Given the description of an element on the screen output the (x, y) to click on. 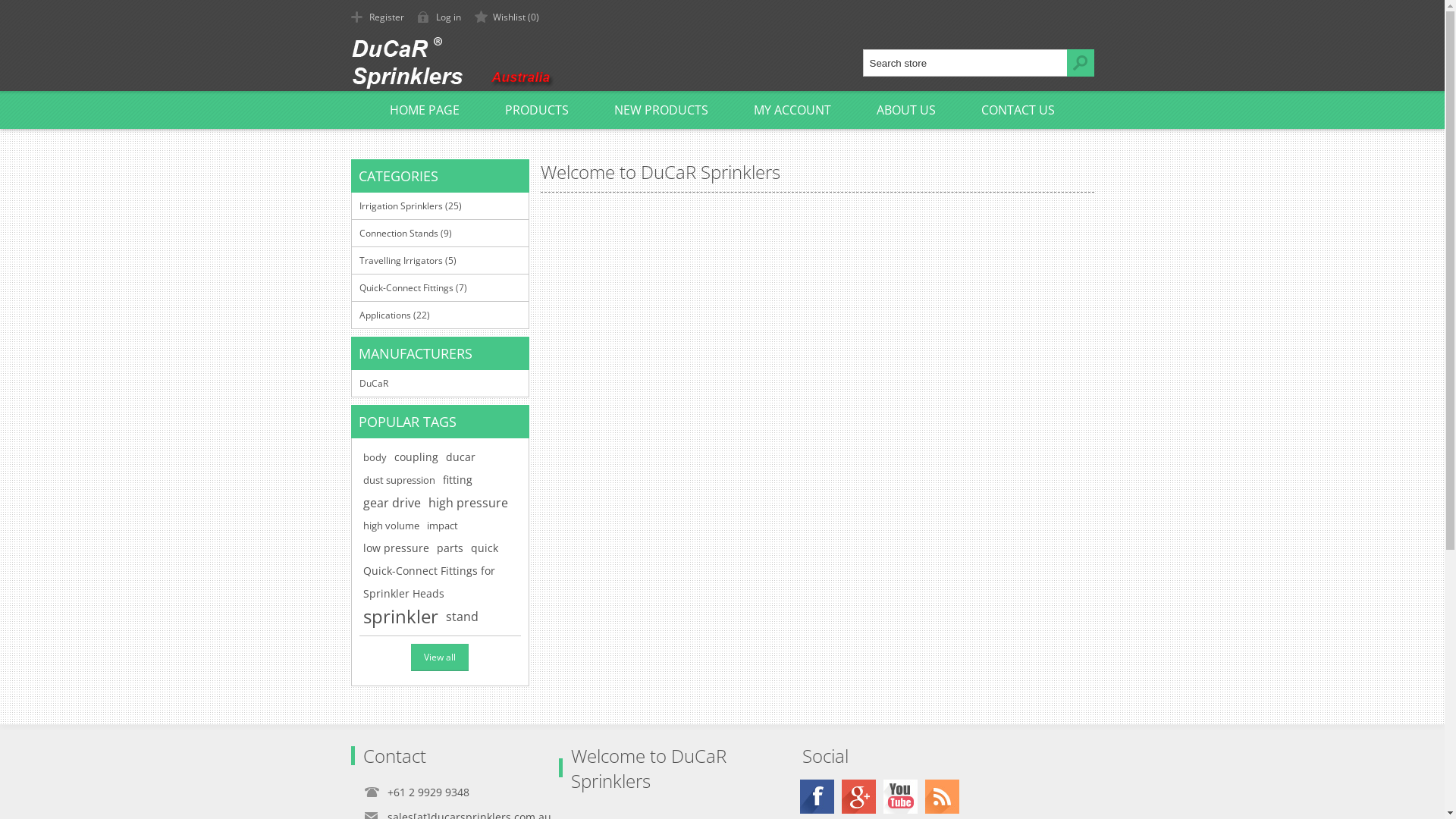
high volume Element type: text (390, 525)
ducar Element type: text (460, 456)
coupling Element type: text (416, 456)
body Element type: text (373, 456)
Register Element type: text (378, 16)
HOME PAGE Element type: text (424, 109)
Quick-Connect Fittings for Sprinkler Heads Element type: text (439, 582)
Wishlist (0) Element type: text (508, 16)
Applications (22) Element type: text (439, 314)
Search Element type: text (1079, 62)
gear drive Element type: text (391, 502)
low pressure Element type: text (395, 547)
MY ACCOUNT Element type: text (792, 109)
ABOUT US Element type: text (905, 109)
dust supression Element type: text (398, 479)
stand Element type: text (461, 616)
sprinkler Element type: text (399, 616)
View all Element type: text (439, 656)
fitting Element type: text (457, 479)
parts Element type: text (449, 547)
Irrigation Sprinklers (25) Element type: text (439, 205)
NEW PRODUCTS Element type: text (661, 109)
DuCaR Element type: text (439, 383)
Log in Element type: text (440, 16)
Travelling Irrigators (5) Element type: text (439, 259)
impact Element type: text (441, 525)
CONTACT US Element type: text (1017, 109)
PRODUCTS Element type: text (536, 109)
quick Element type: text (483, 547)
Quick-Connect Fittings (7) Element type: text (439, 287)
Connection Stands (9) Element type: text (439, 232)
high pressure Element type: text (467, 502)
